Given the description of an element on the screen output the (x, y) to click on. 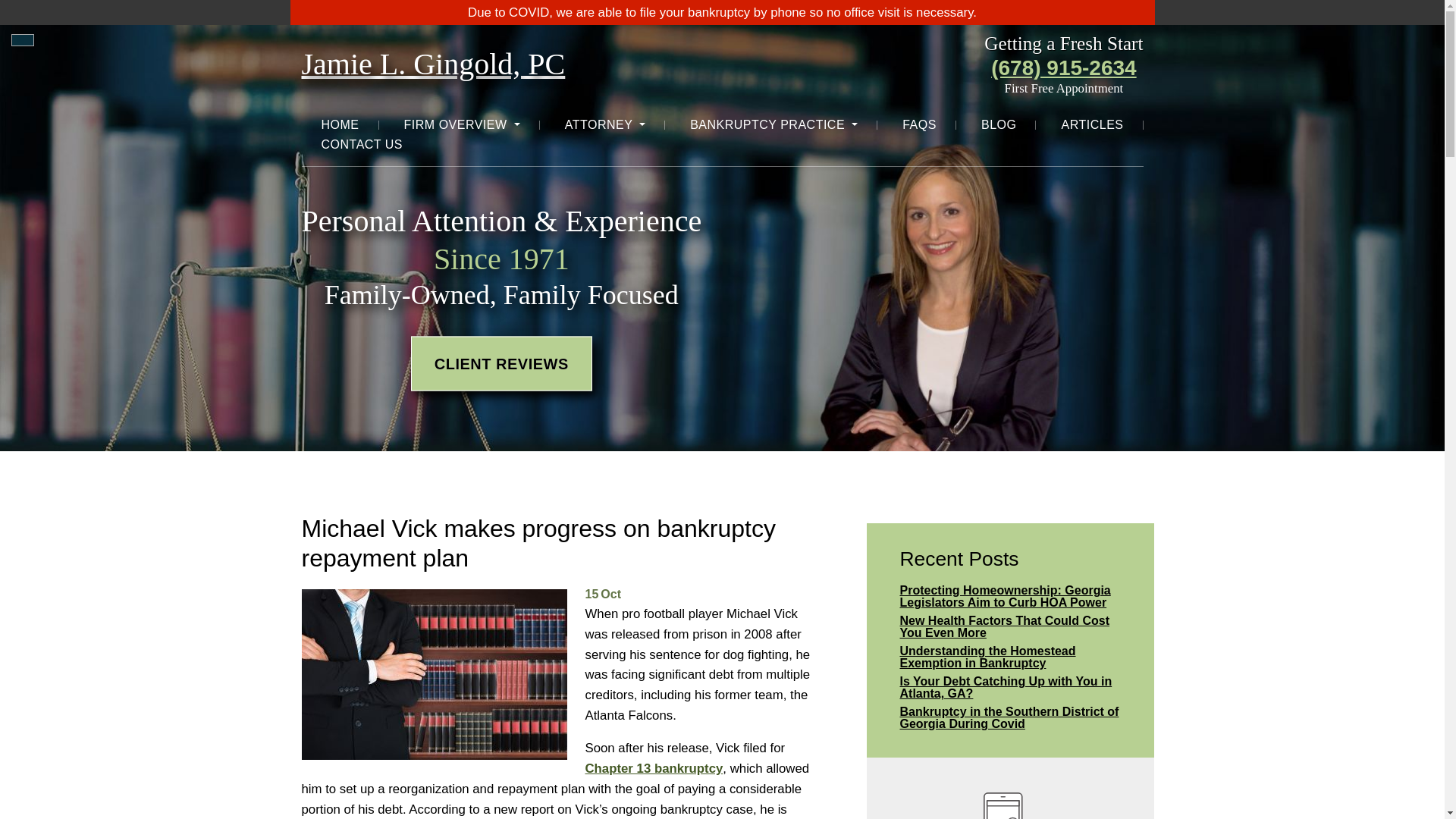
Understanding the Homestead Exemption in Bankruptcy (1010, 657)
Switch to high color contrast version of the website (22, 39)
CONTACT US (362, 144)
Bankruptcy in the Southern District of Georgia During Covid (1010, 717)
Stop Creditors (1010, 800)
CLIENT REVIEWS (501, 363)
ARTICLES (1092, 125)
Jamie L. Gingold, PC (433, 63)
Is Your Debt Catching Up with You in Atlanta, GA? (1010, 687)
BANKRUPTCY PRACTICE (773, 125)
